Given the description of an element on the screen output the (x, y) to click on. 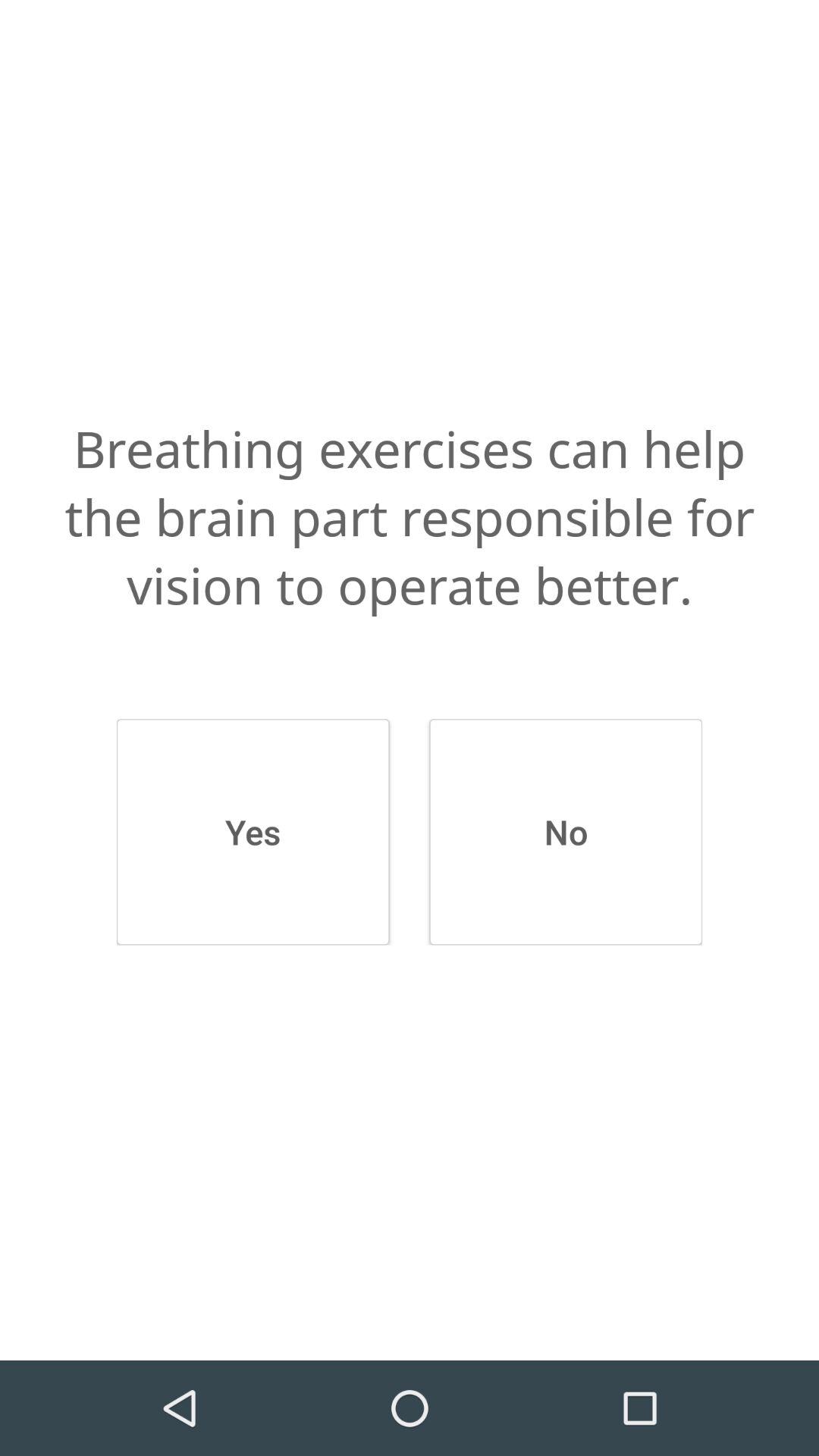
open item next to the no button (252, 831)
